Given the description of an element on the screen output the (x, y) to click on. 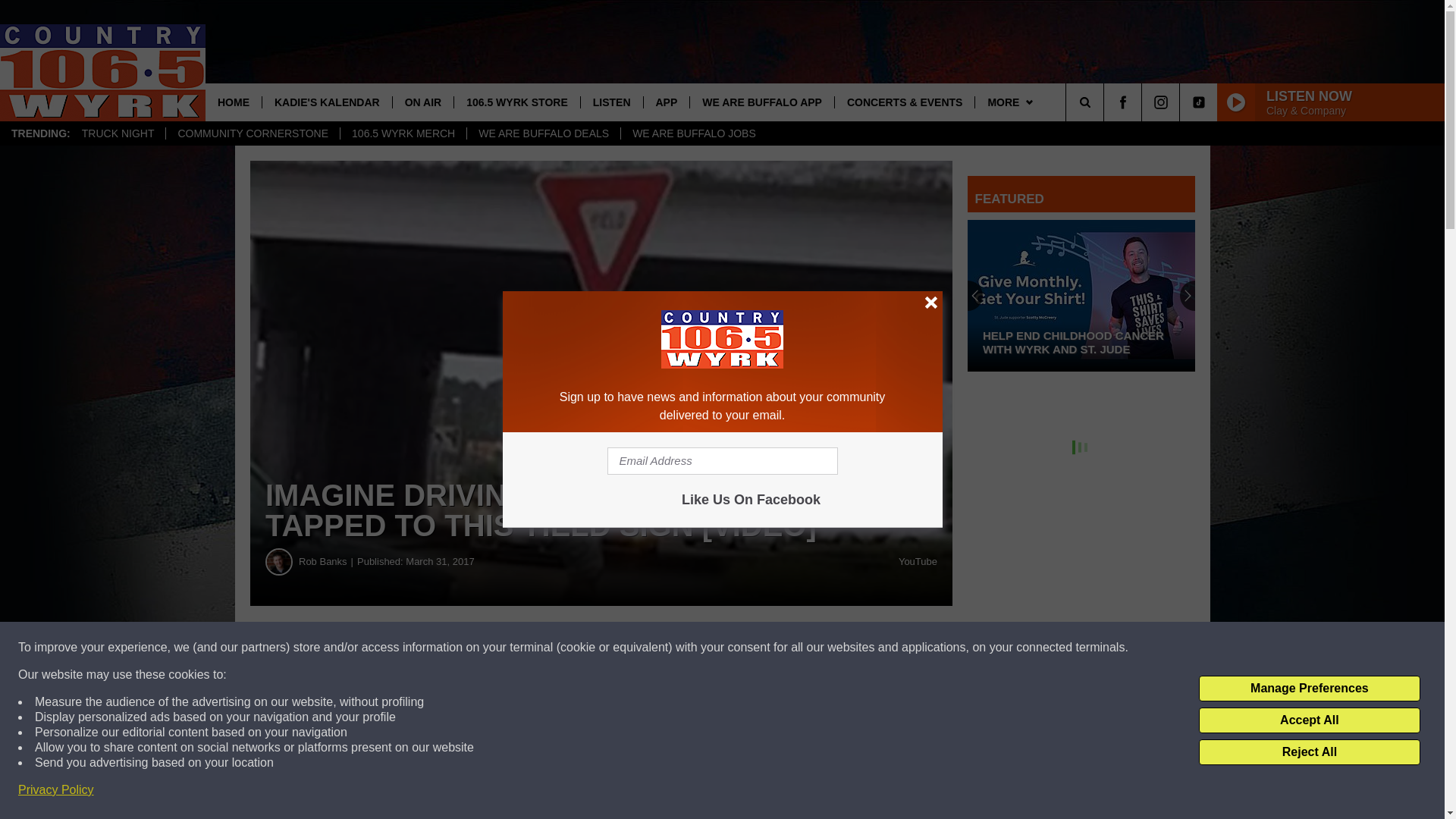
Email Address (722, 461)
Manage Preferences (1309, 688)
Reject All (1309, 751)
106.5 WYRK MERCH (402, 133)
106.5 WYRK STORE (515, 102)
WE ARE BUFFALO APP (761, 102)
KADIE'S KALENDAR (326, 102)
SEARCH (1106, 102)
HOME (233, 102)
WE ARE BUFFALO JOBS (693, 133)
Privacy Policy (55, 789)
WE ARE BUFFALO DEALS (542, 133)
LISTEN (611, 102)
TRUCK NIGHT (117, 133)
Accept All (1309, 720)
